Given the description of an element on the screen output the (x, y) to click on. 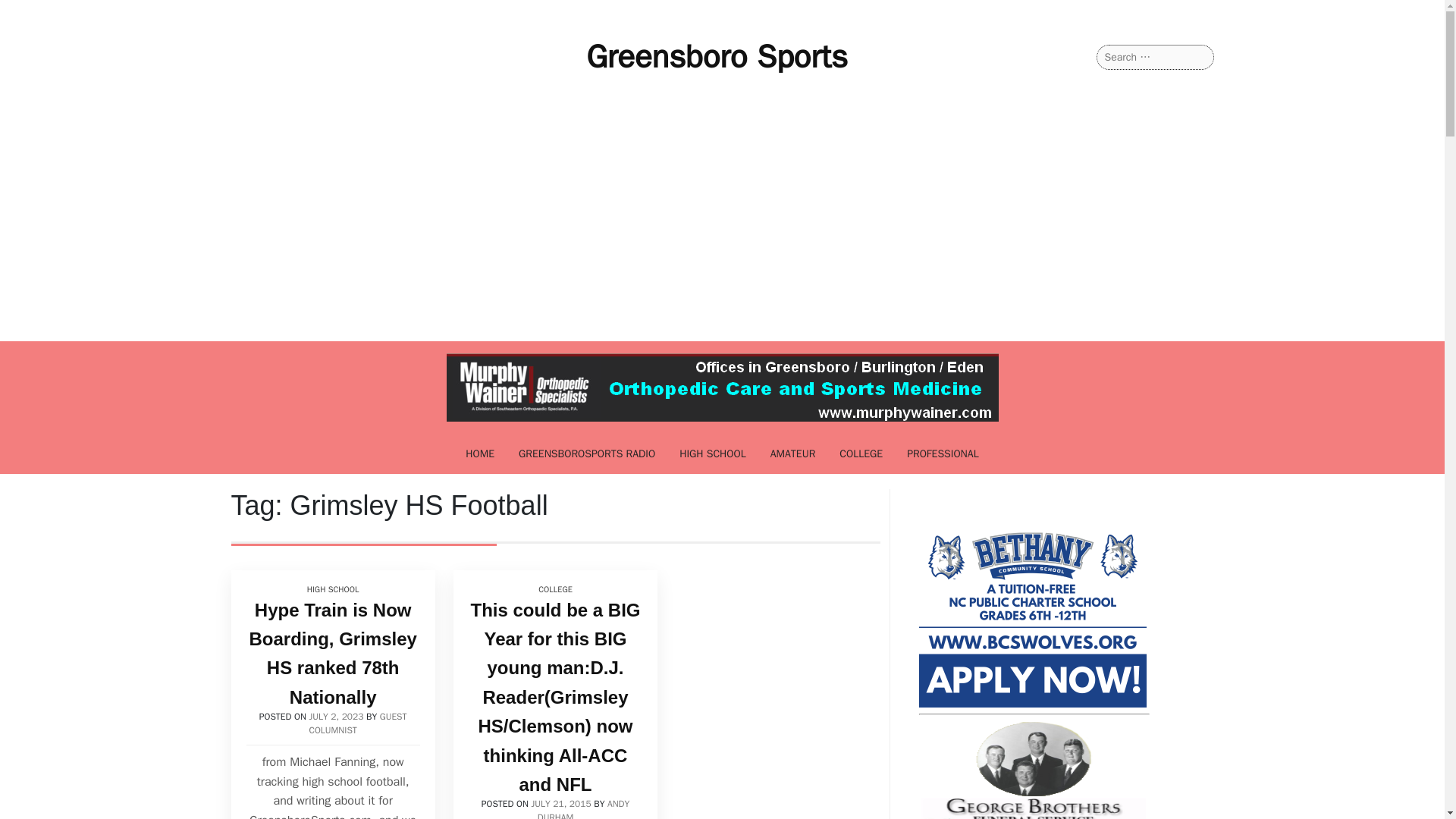
JULY 2, 2023 (336, 716)
PROFESSIONAL (943, 454)
GREENSBOROSPORTS RADIO (586, 454)
Search (31, 12)
Greensboro Sports (716, 56)
HOME (479, 454)
COLLEGE (555, 589)
HIGH SCHOOL (712, 454)
COLLEGE (861, 454)
GUEST COLUMNIST (357, 723)
HIGH SCHOOL (332, 589)
JULY 21, 2015 (561, 803)
Search (30, 12)
ANDY DURHAM (582, 808)
